Given the description of an element on the screen output the (x, y) to click on. 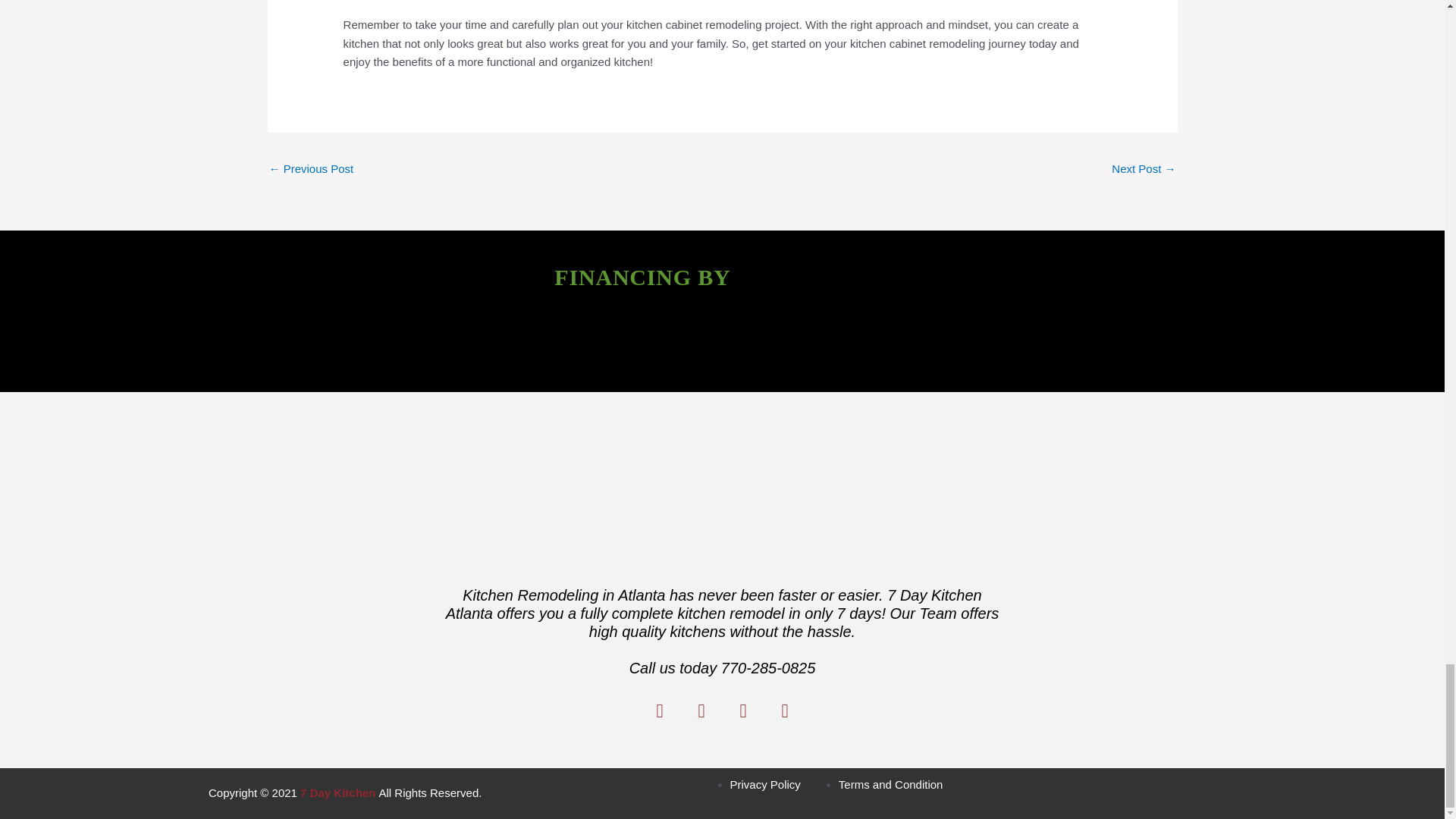
Terms and Condition (890, 784)
Facebook (659, 711)
Youtube (784, 711)
Twitter (701, 711)
Privacy Policy (764, 784)
770-285-0825 (767, 668)
Instagram (742, 711)
